Given the description of an element on the screen output the (x, y) to click on. 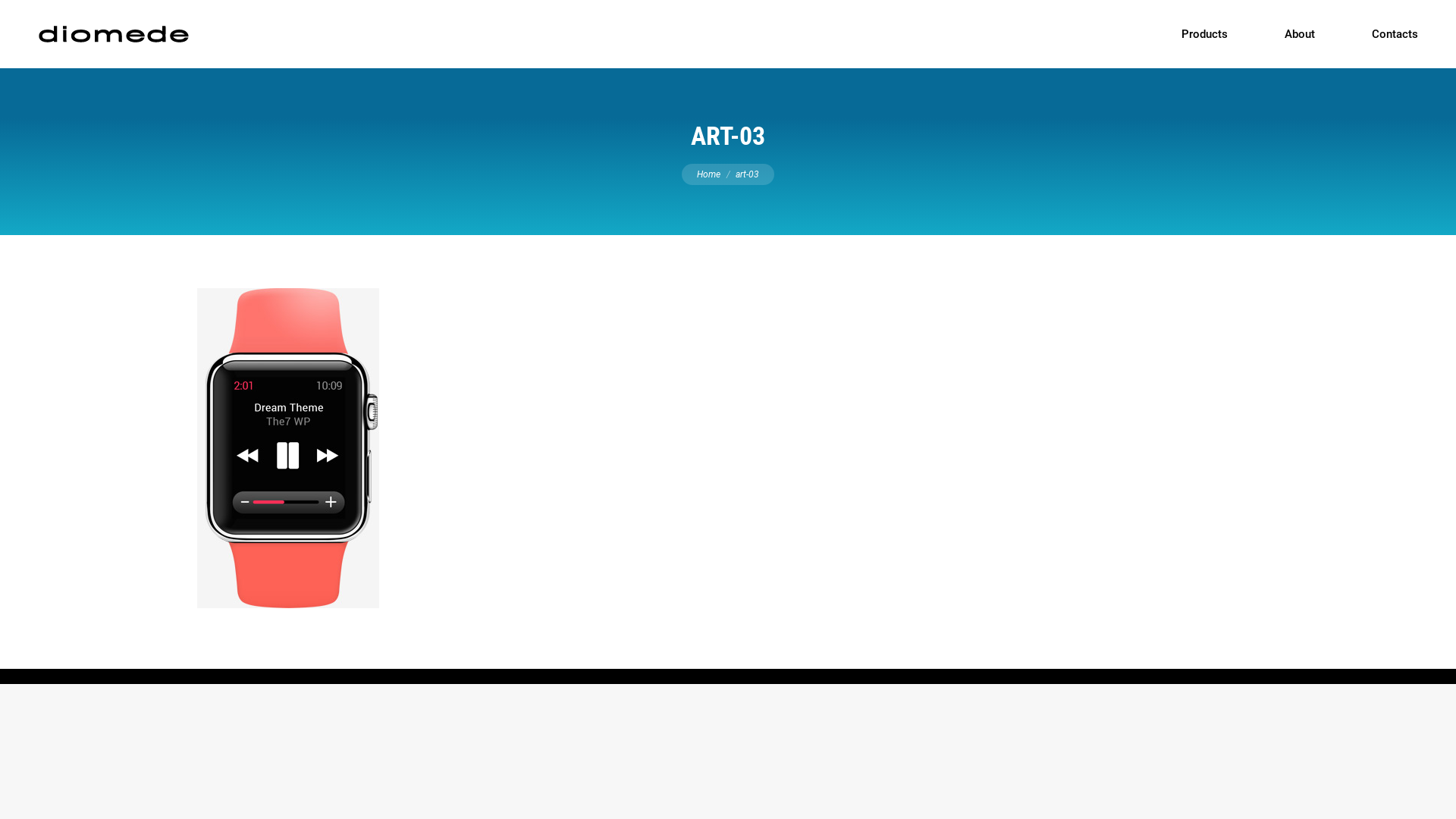
Home Element type: text (708, 173)
Contacts Element type: text (1394, 33)
Products Element type: text (1204, 33)
About Element type: text (1299, 33)
